Given the description of an element on the screen output the (x, y) to click on. 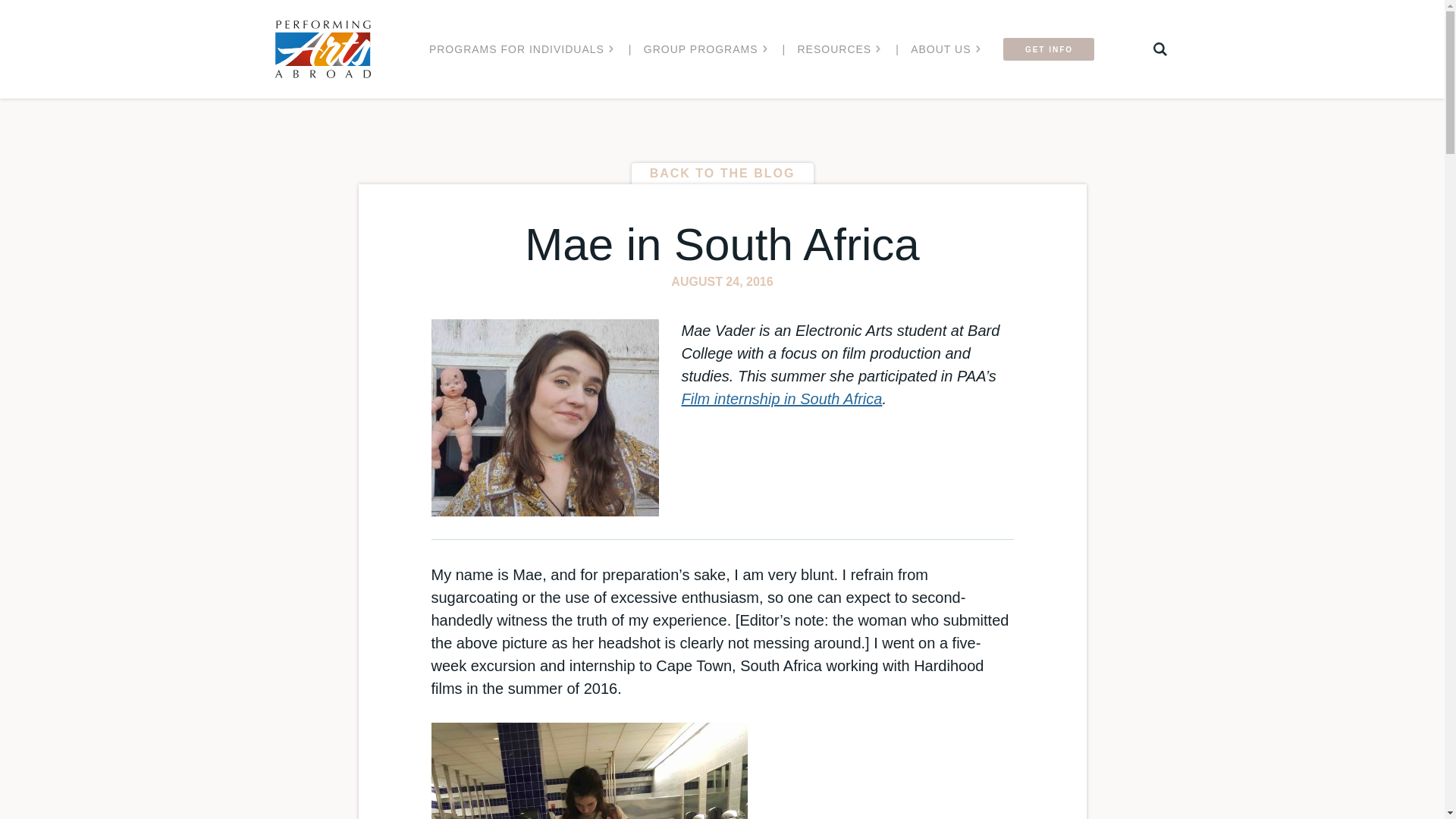
Toggle Search (1159, 49)
Performing Arts Abroad (322, 48)
ABOUT US (944, 48)
GROUP PROGRAMS (705, 48)
PROGRAMS FOR INDIVIDUALS (520, 48)
RESOURCES (839, 48)
